Given the description of an element on the screen output the (x, y) to click on. 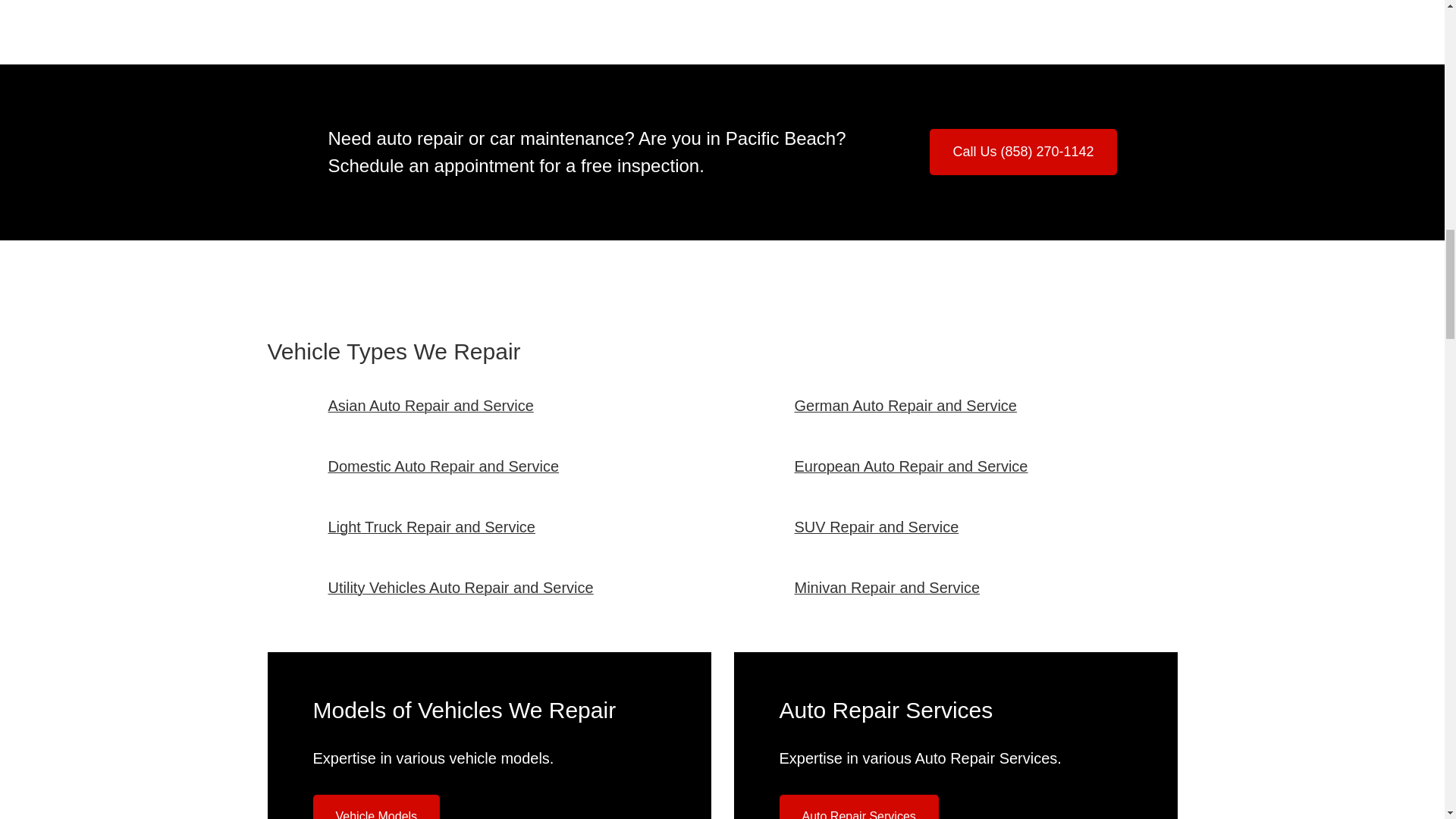
Auto Repair Services (858, 806)
Light Truck Repair and Service (430, 526)
SUV Repair and Service (876, 526)
Utility Vehicles Auto Repair and Service (459, 587)
Minivan Repair and Service (886, 587)
Domestic Auto Repair and Service (443, 466)
Asian Auto Repair and Service (429, 405)
Vehicle Models (376, 806)
German Auto Repair and Service (905, 405)
European Auto Repair and Service (910, 466)
